Given the description of an element on the screen output the (x, y) to click on. 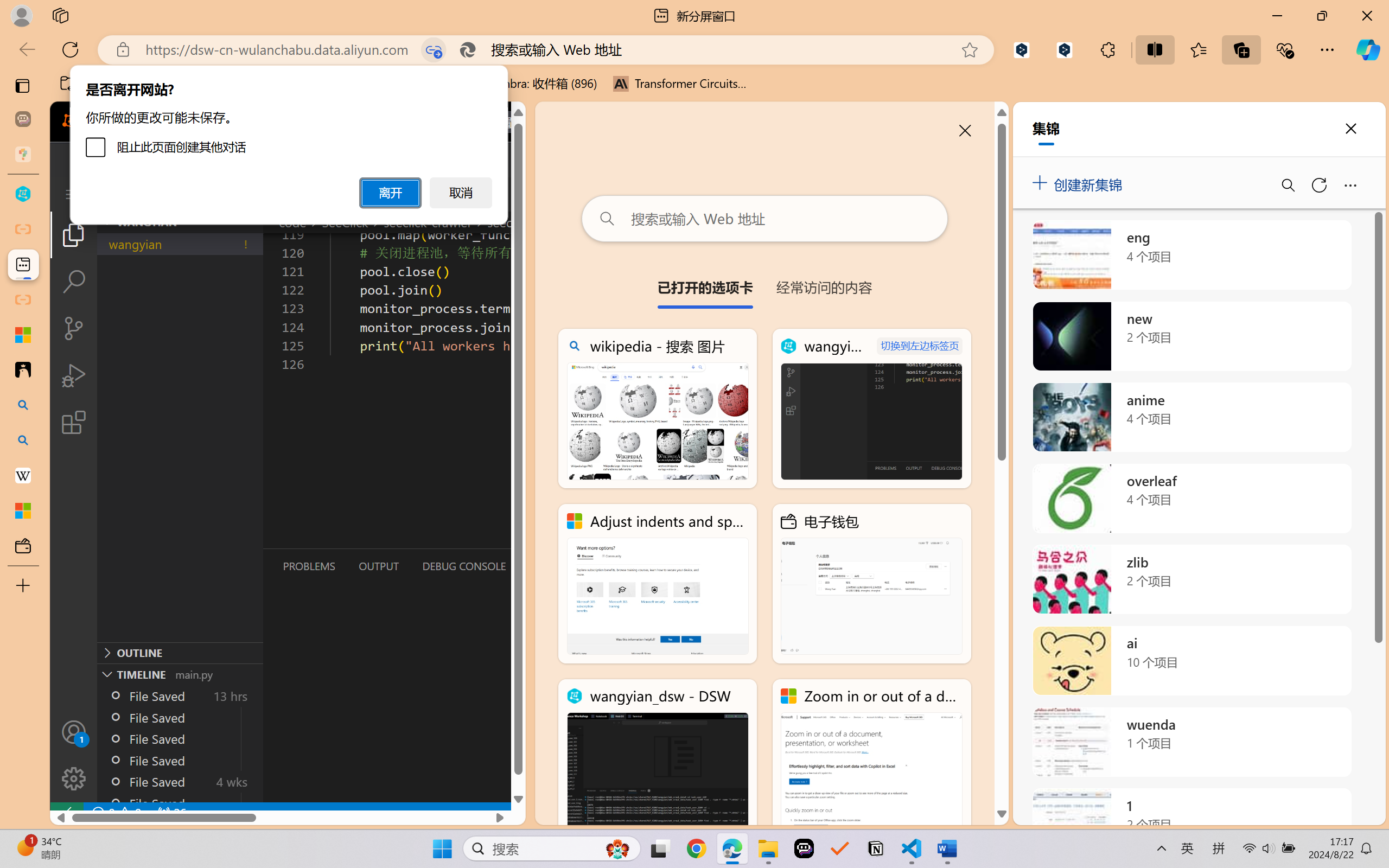
Manage (73, 755)
Extensions (Ctrl+Shift+X) (73, 422)
No Problems (115, 812)
remote (66, 812)
Terminal (Ctrl+`) (553, 565)
